Given the description of an element on the screen output the (x, y) to click on. 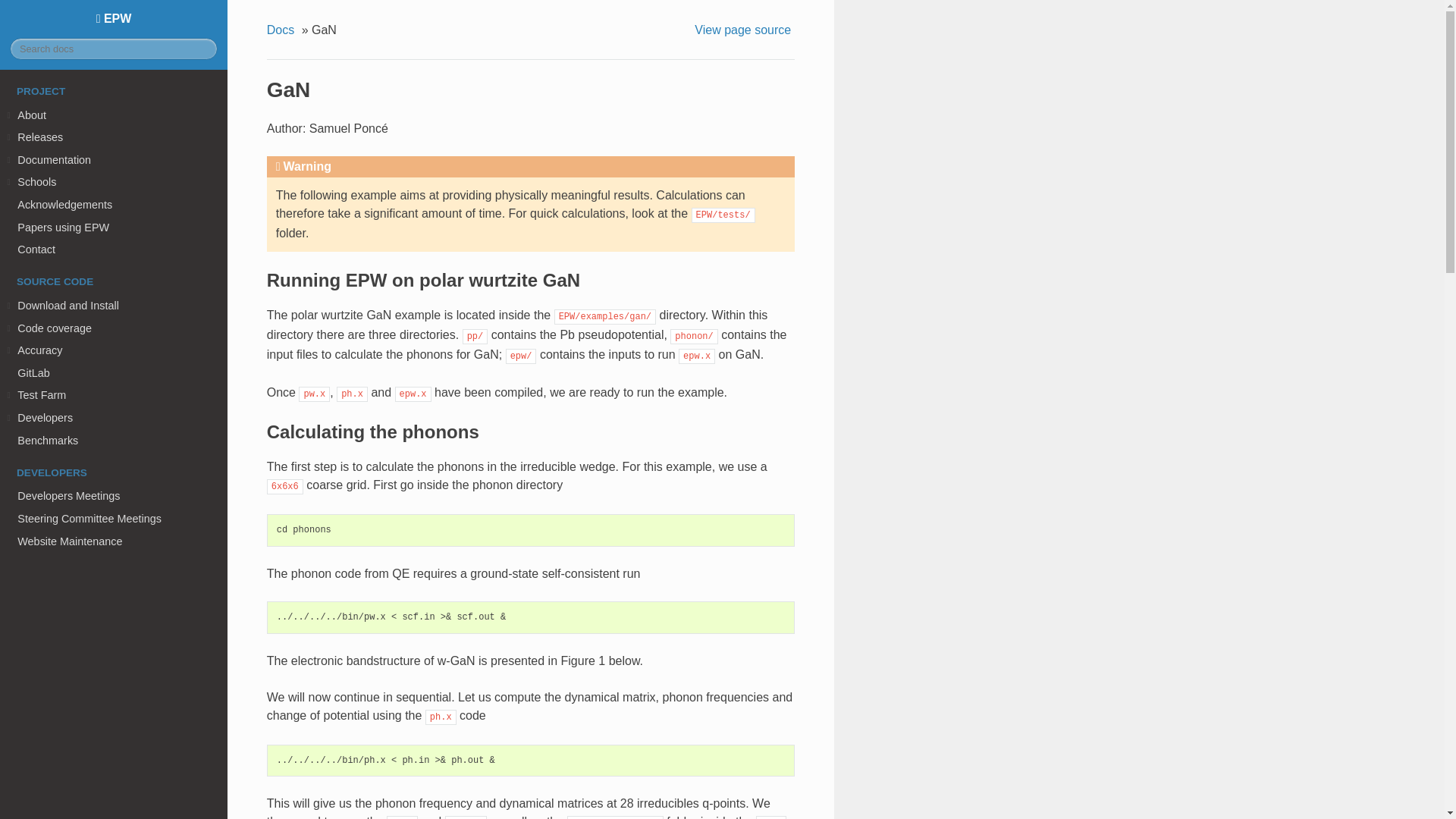
About (113, 115)
Contact (113, 249)
EPW (113, 18)
Documentation (113, 159)
Acknowledgements (113, 204)
Papers using EPW (113, 227)
Schools (113, 182)
Download and Install (113, 305)
Releases (113, 137)
